Given the description of an element on the screen output the (x, y) to click on. 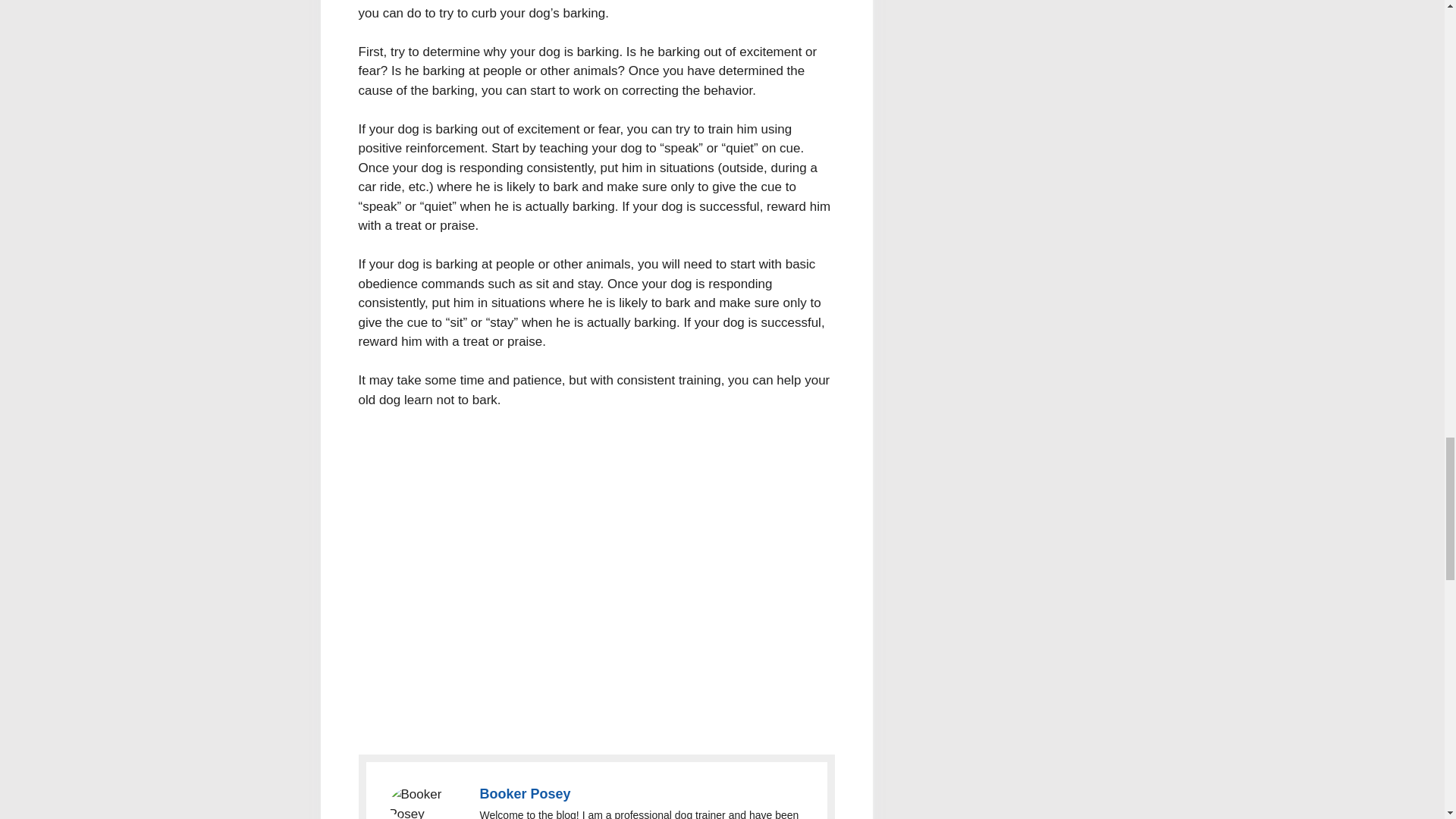
Can Prey Drive Be Trained Out Of A Dog 2 (426, 801)
